Given the description of an element on the screen output the (x, y) to click on. 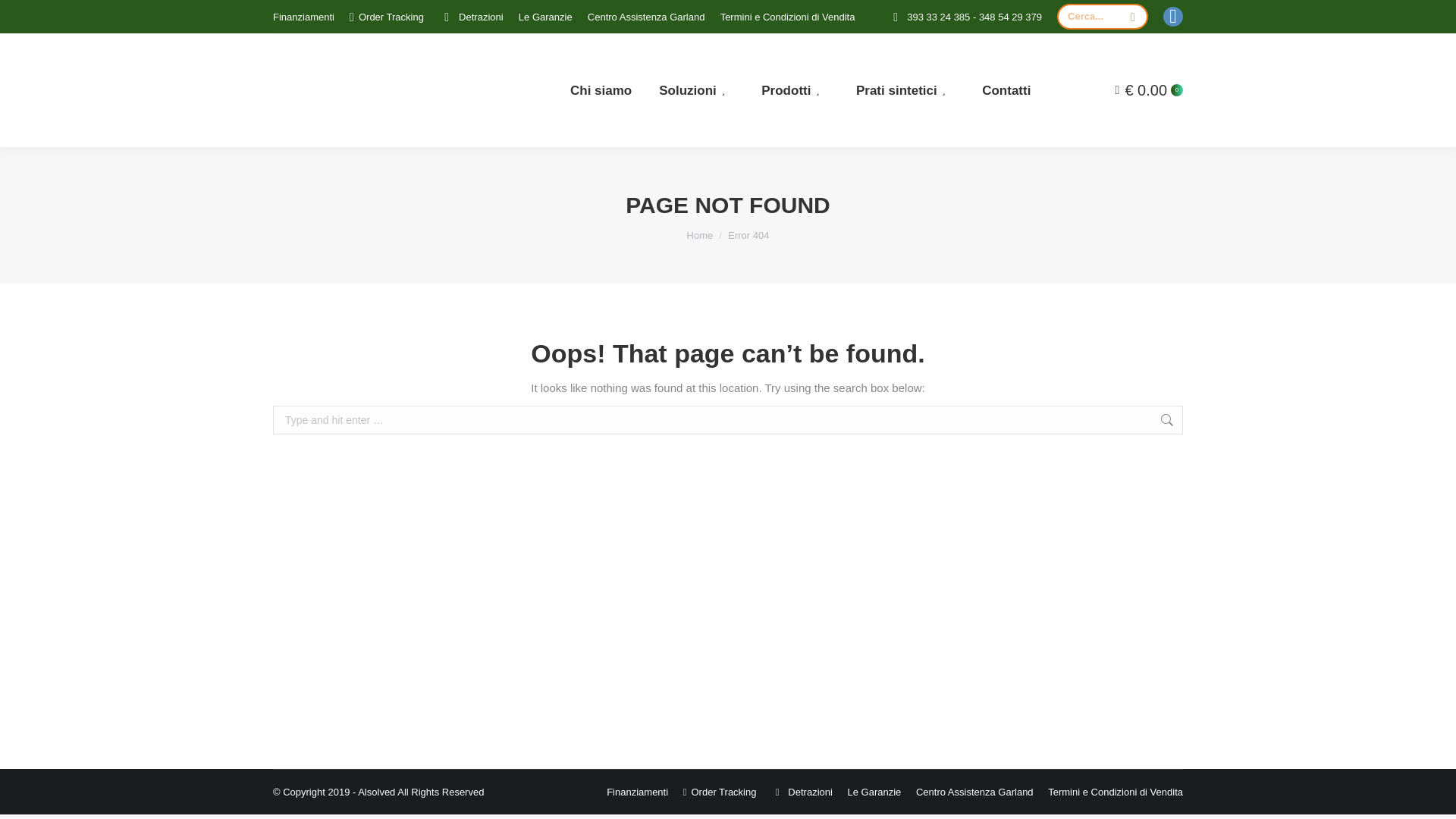
Home (700, 235)
Detrazioni (471, 16)
Finanziamenti (303, 16)
Go! (1206, 421)
Go! (24, 16)
Search form (1102, 16)
Soluzioni (696, 89)
Facebook page opens in new window (1172, 16)
Order Tracking (386, 16)
Le Garanzie (545, 16)
